Given the description of an element on the screen output the (x, y) to click on. 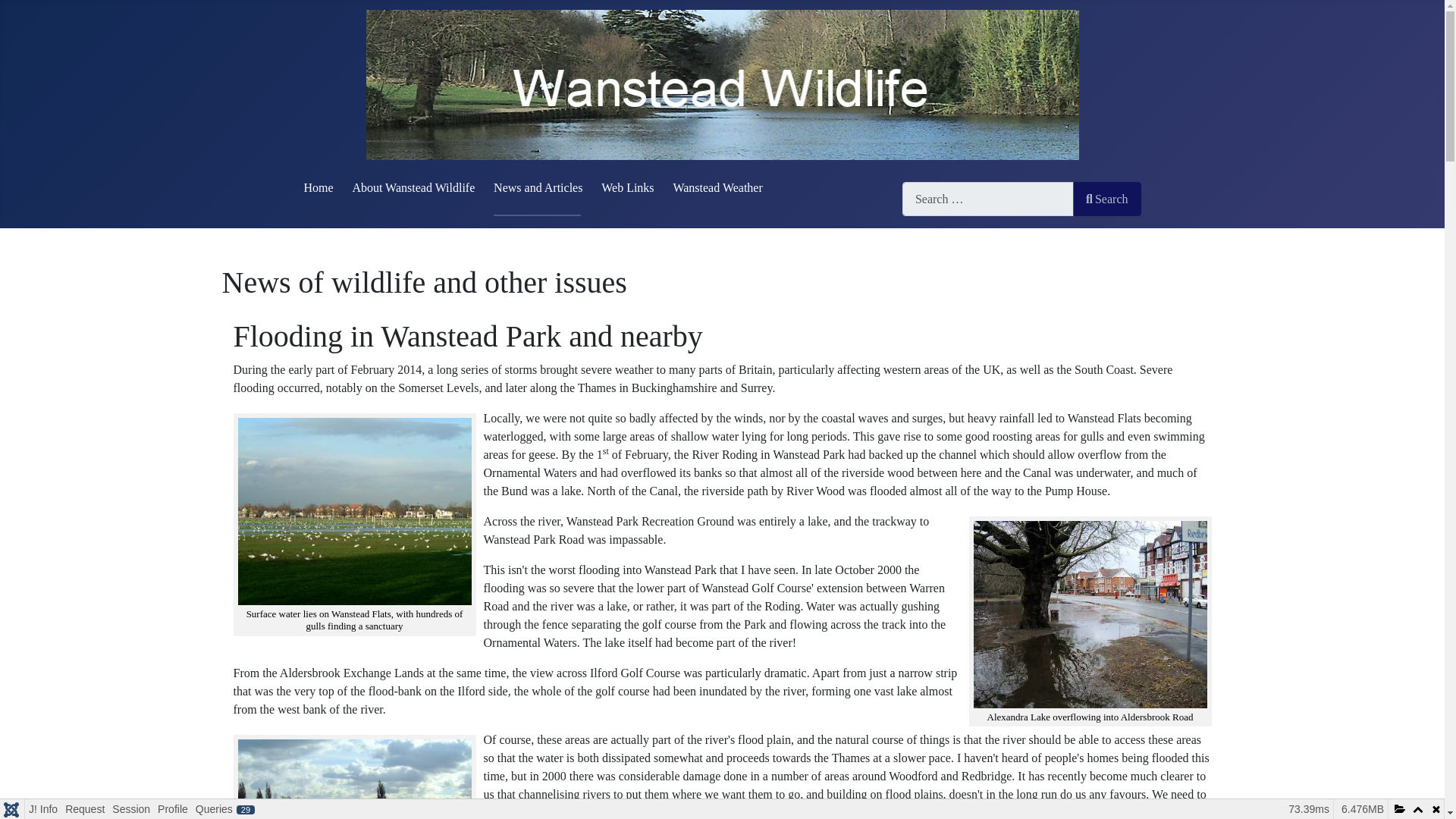
Web Links (627, 187)
Queries29 (225, 809)
News and Articles (537, 187)
J! Info (42, 809)
Alexandra Lake overflowing into Aldersbrook Road (1090, 613)
Session (130, 809)
Home (317, 187)
About Wanstead Wildlife (413, 187)
Profile (173, 809)
Wanstead Weather (716, 187)
Search (1107, 198)
Request (84, 809)
